Given the description of an element on the screen output the (x, y) to click on. 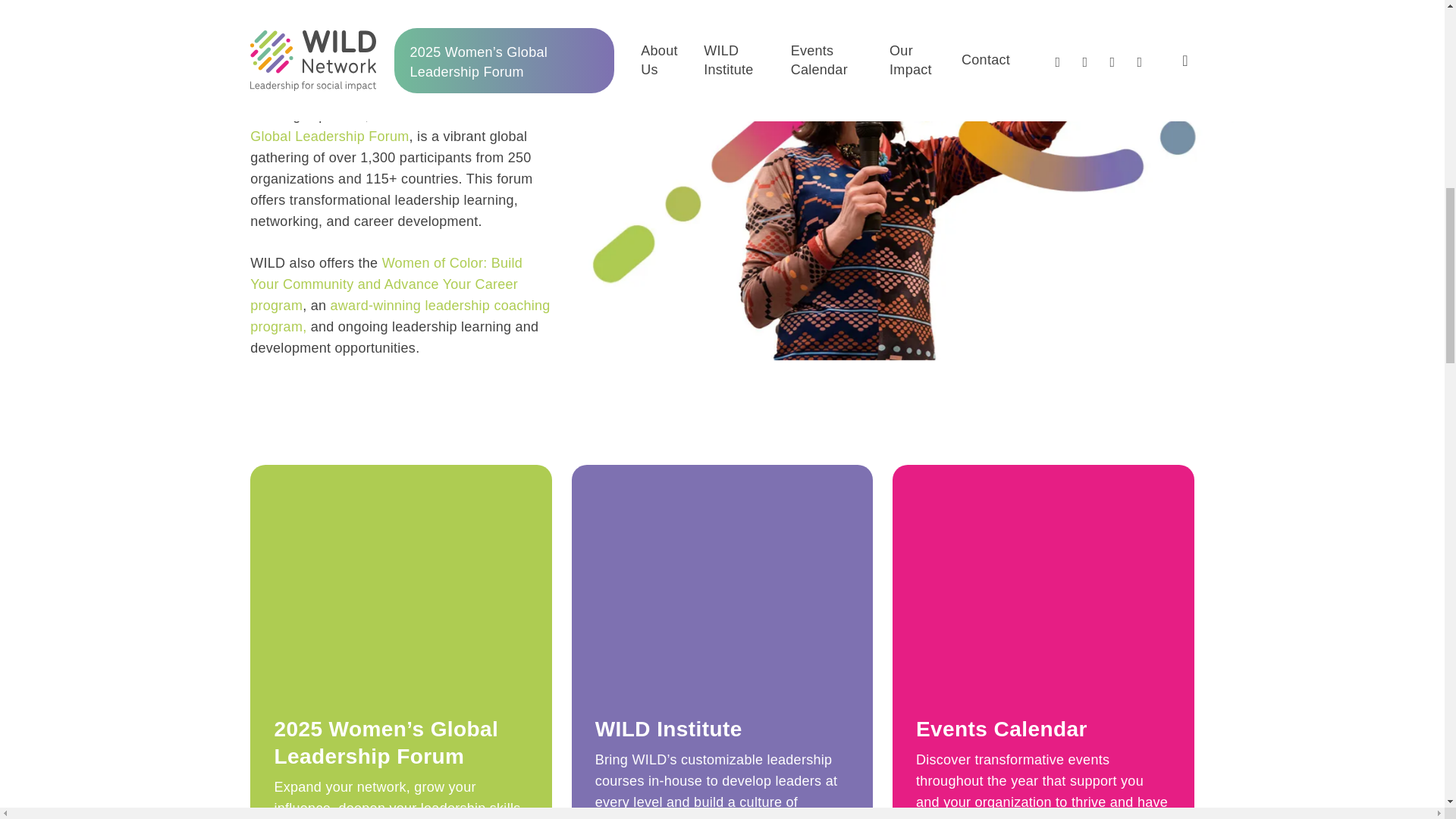
award-winning leadership coaching program, (400, 316)
